Given the description of an element on the screen output the (x, y) to click on. 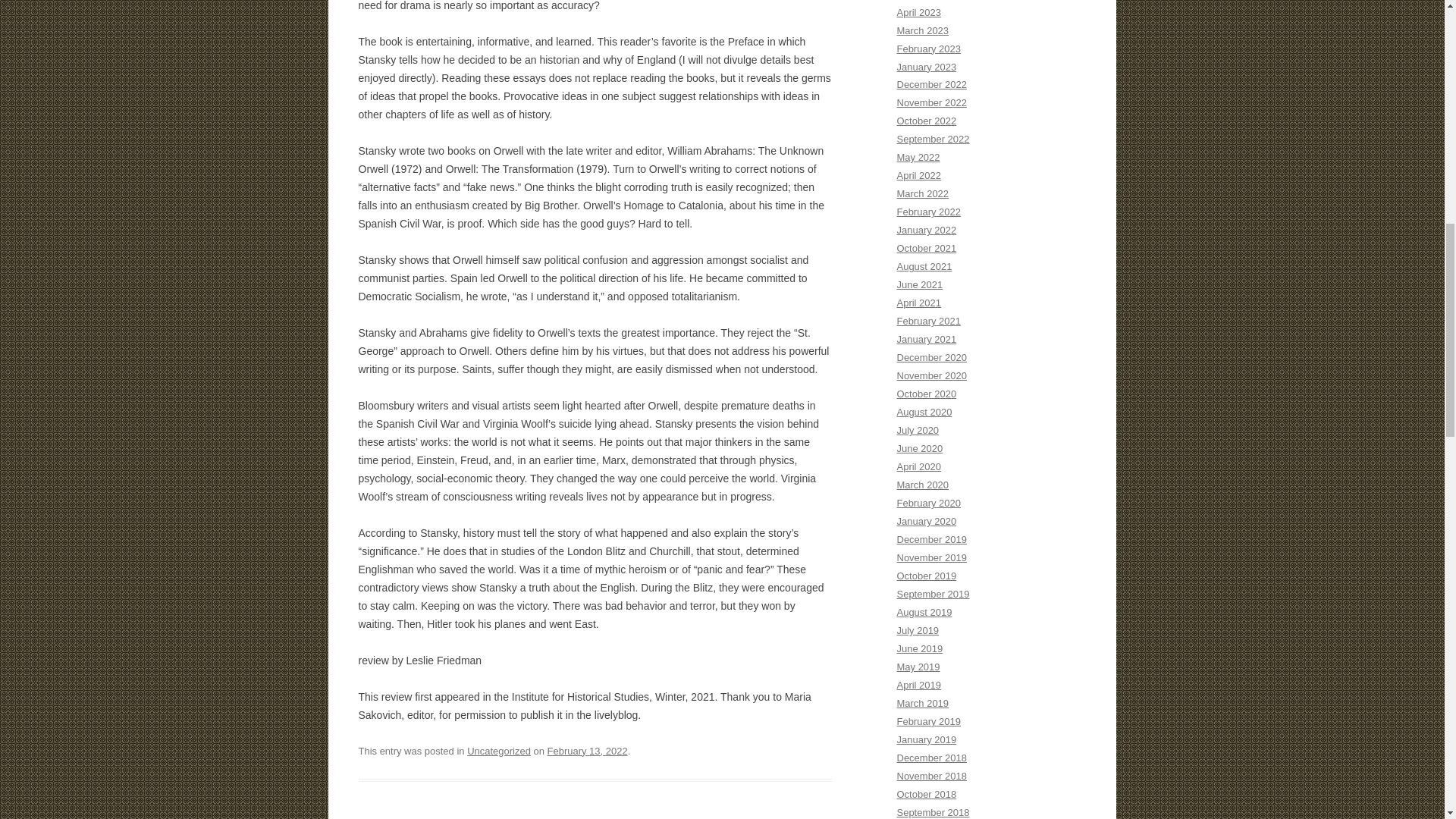
February 13, 2022 (587, 750)
Uncategorized (499, 750)
10:09 pm (587, 750)
